Given the description of an element on the screen output the (x, y) to click on. 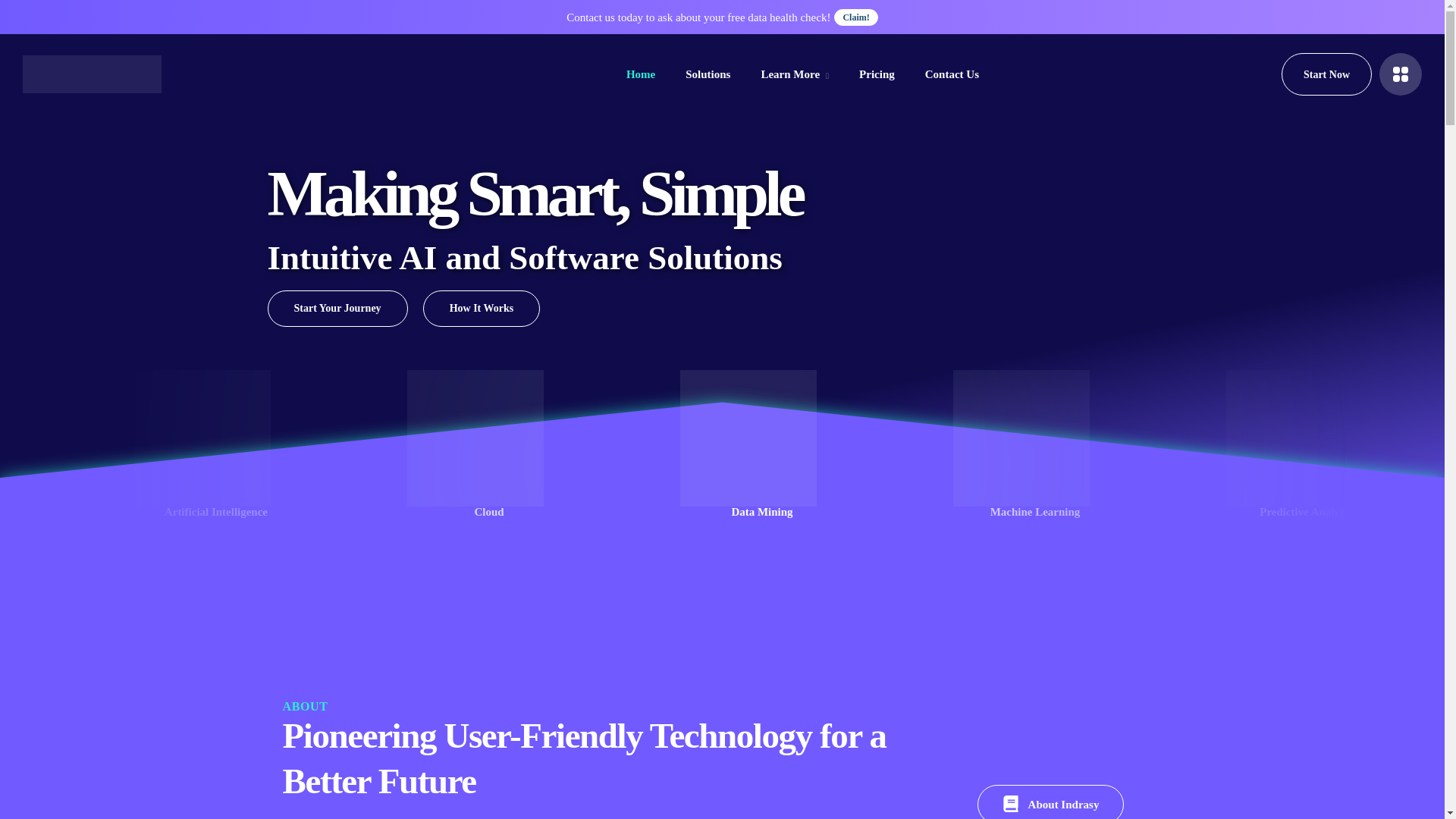
Home (640, 74)
Learn More (794, 74)
Open (1400, 74)
Contact Us (951, 74)
Pricing (877, 74)
Claim! (855, 17)
Solutions (707, 74)
Start Now (1326, 74)
